Given the description of an element on the screen output the (x, y) to click on. 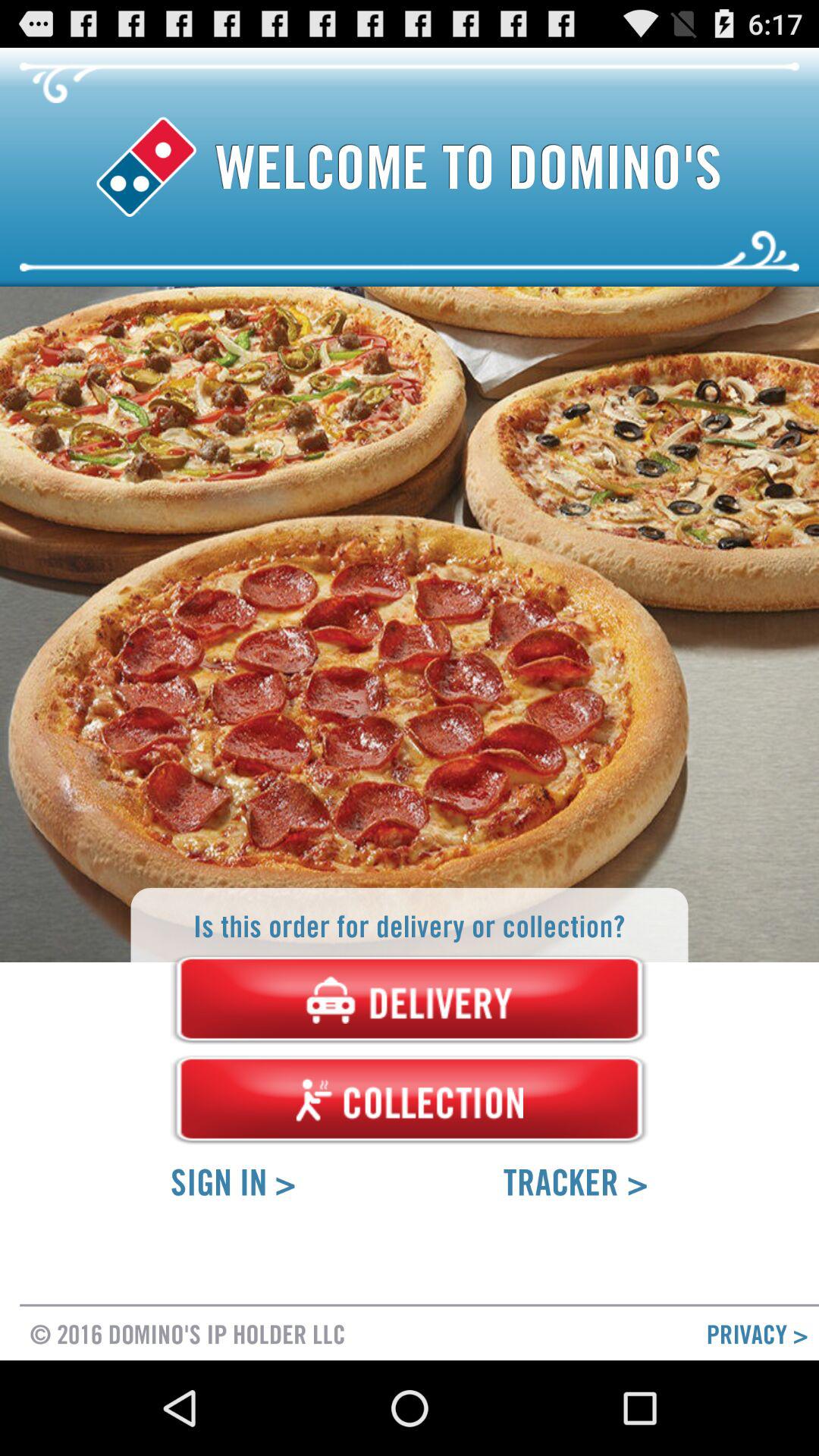
select delivery option (409, 999)
